Given the description of an element on the screen output the (x, y) to click on. 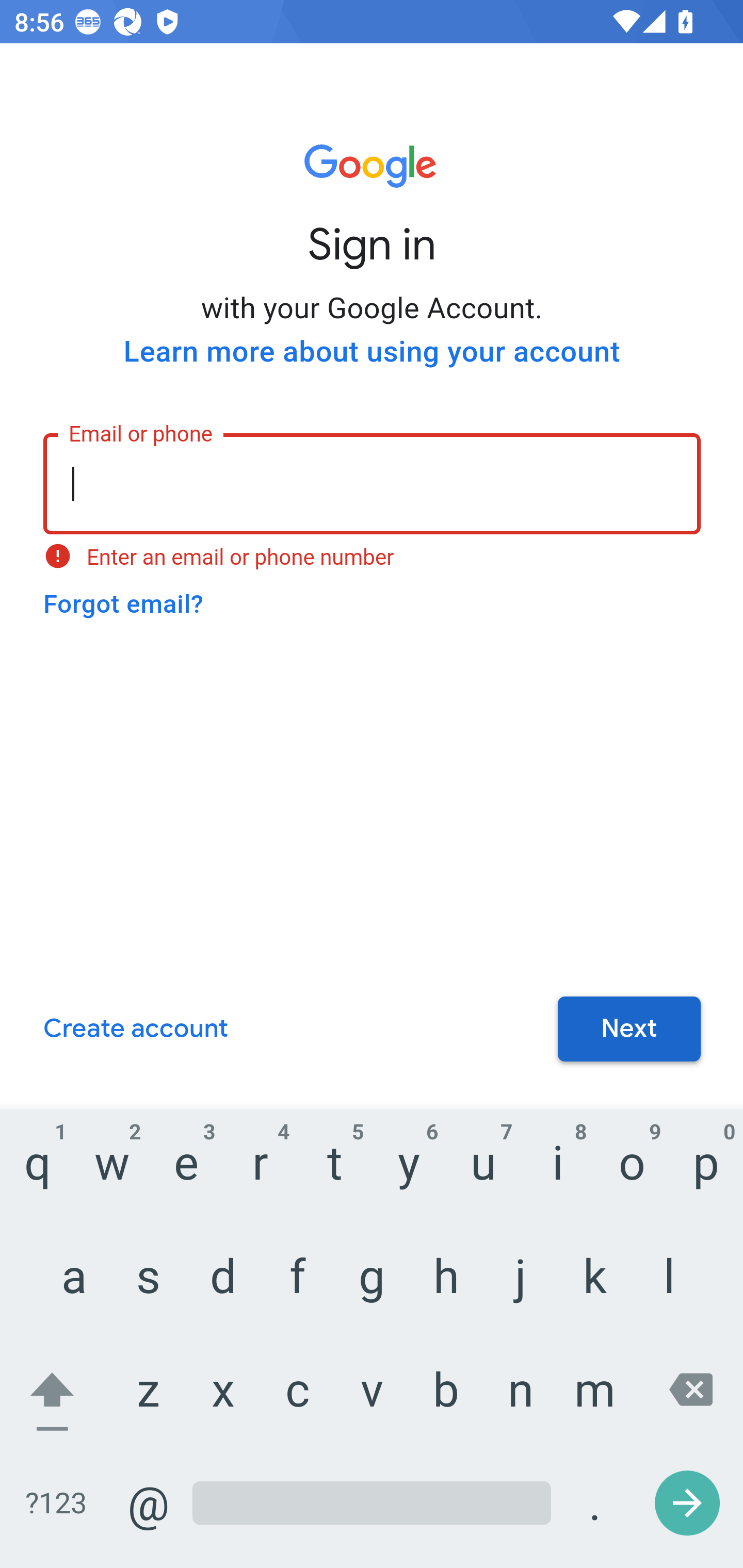
Learn more about using your account (371, 351)
Forgot email? (123, 604)
Create account (134, 1029)
Next (629, 1029)
